Given the description of an element on the screen output the (x, y) to click on. 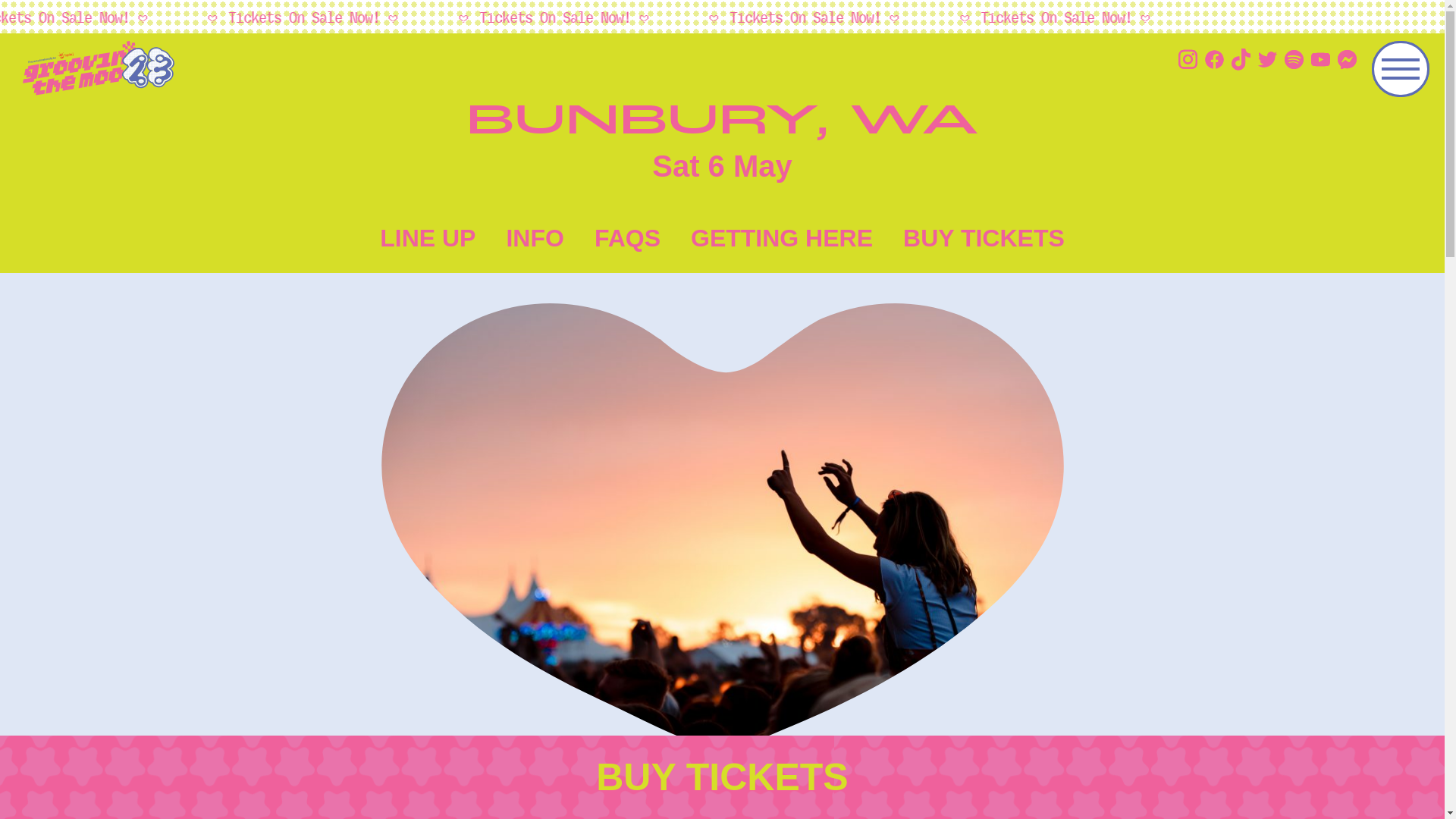
Spotify Element type: text (1293, 62)
LINE UP Element type: text (427, 237)
YouTube Element type: text (1320, 62)
Facebook Element type: text (1213, 62)
Messenger Element type: text (1346, 62)
Twitter Element type: text (1267, 62)
Toggle navigation Element type: text (1400, 68)
Groovin the Moo Element type: text (401, 70)
BUY TICKETS Element type: text (721, 776)
BUY TICKETS Element type: text (983, 237)
Instagram Element type: text (1187, 62)
GETTING HERE Element type: text (781, 237)
Tik Tok Element type: text (1240, 62)
INFO Element type: text (534, 237)
FAQS Element type: text (627, 237)
